Given the description of an element on the screen output the (x, y) to click on. 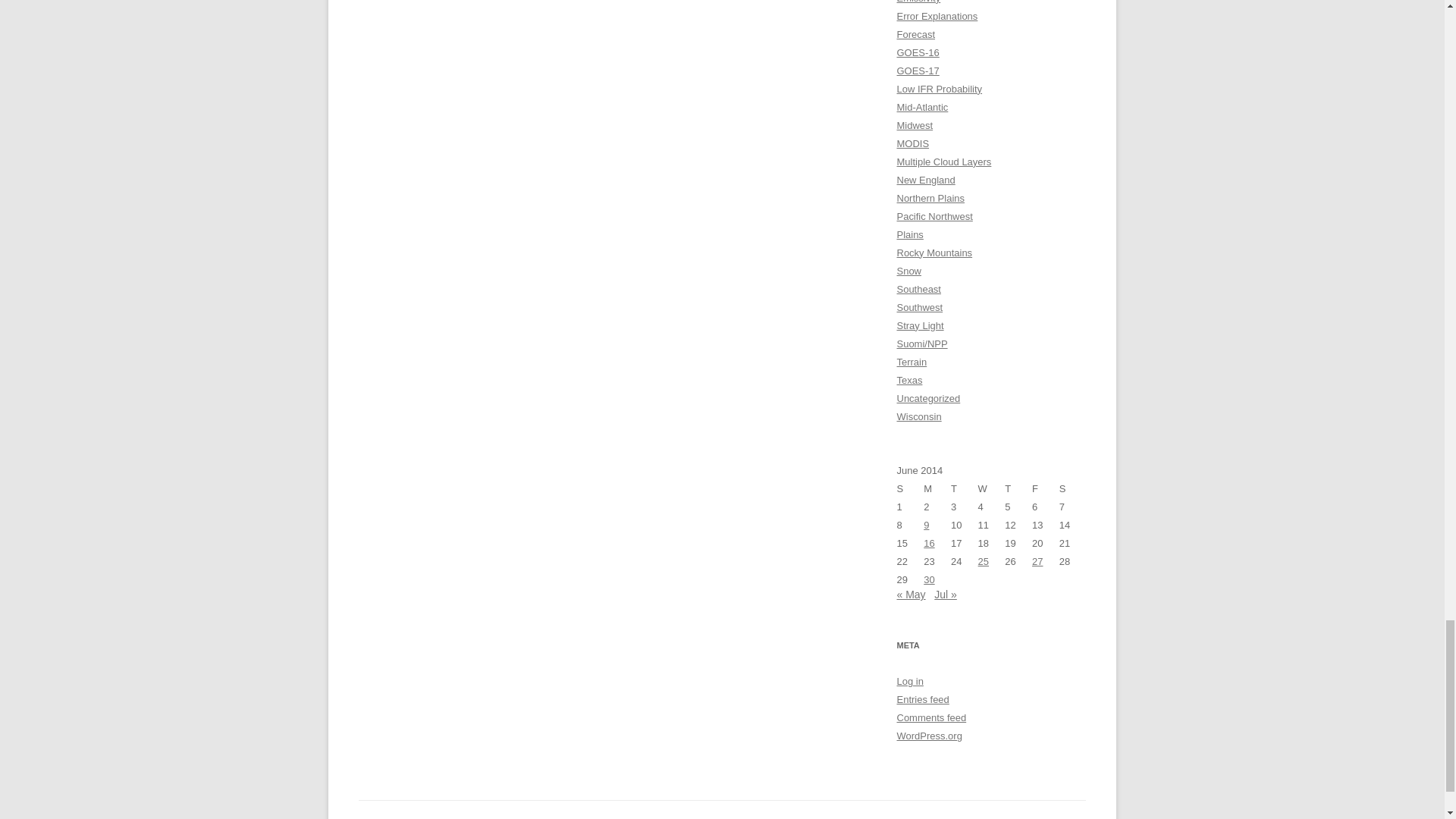
Thursday (1018, 488)
Wednesday (992, 488)
Friday (1045, 488)
Monday (936, 488)
Tuesday (964, 488)
Sunday (909, 488)
Saturday (1072, 488)
